Given the description of an element on the screen output the (x, y) to click on. 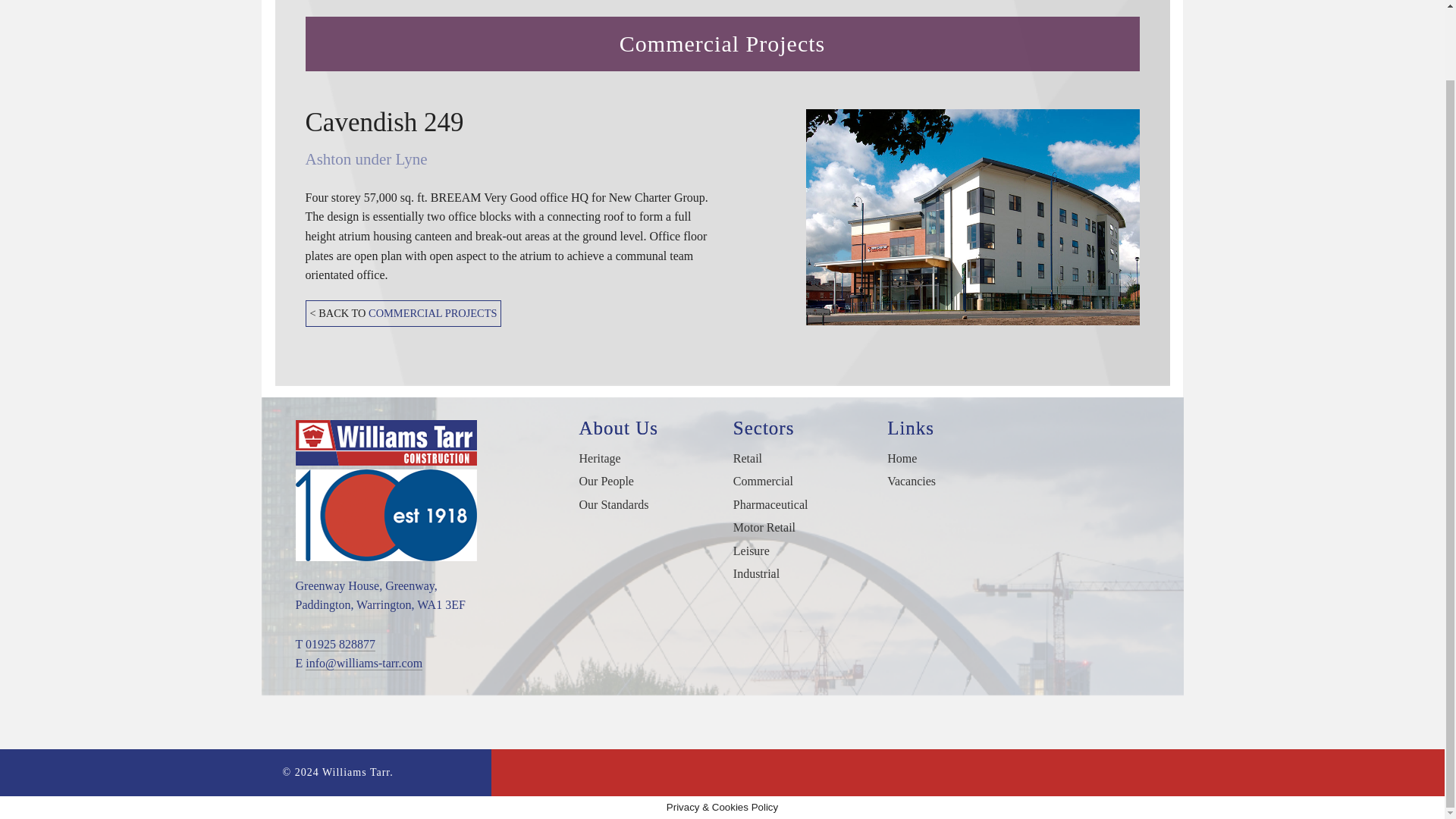
Quality Assurance (919, 48)
Commercial Projects (804, 15)
Our Standards (674, 48)
Pharmaceutical Projects (804, 48)
Considerate Constructors (919, 82)
Industrial Projects (804, 151)
Leisure Projects (804, 116)
Our People (674, 15)
Environment and Sustainability (919, 15)
Motor Retail (804, 82)
